Given the description of an element on the screen output the (x, y) to click on. 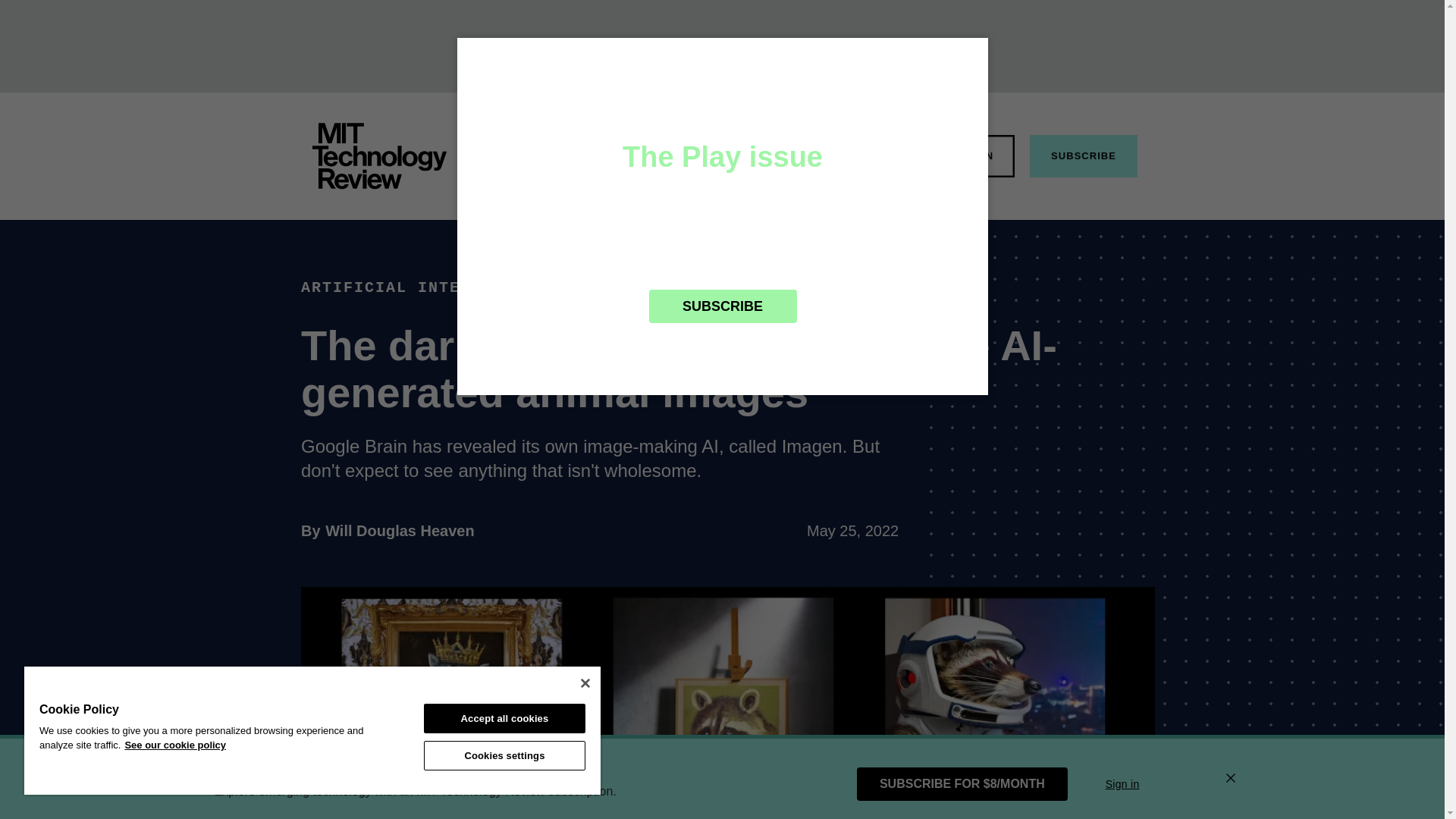
Podcasts (868, 154)
SUBSCRIBE (1083, 156)
Topics (639, 154)
Featured (569, 154)
ARTIFICIAL INTELLIGENCE (422, 287)
Newsletters (717, 154)
3rd party ad content (727, 46)
MIT Technology Review (379, 155)
SIGN IN (972, 156)
Events (399, 530)
